Given the description of an element on the screen output the (x, y) to click on. 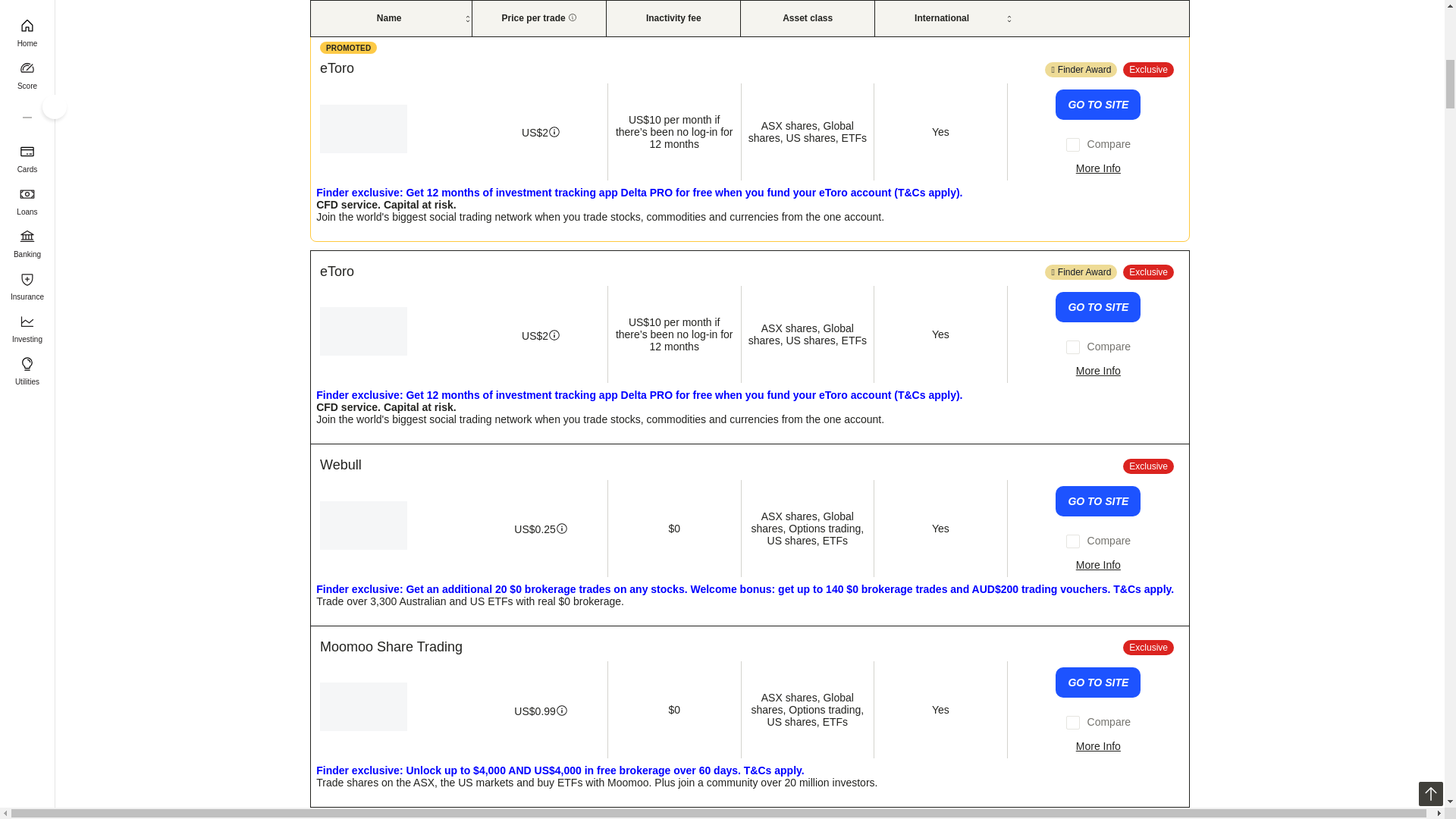
Apply Now For The eToro (1097, 306)
Apply Now For The Webull (1097, 501)
Important information about this website (348, 47)
Apply Now For The eToro (1097, 104)
Read More About The eToro (1097, 168)
Read More About The eToro (1097, 370)
